Given the description of an element on the screen output the (x, y) to click on. 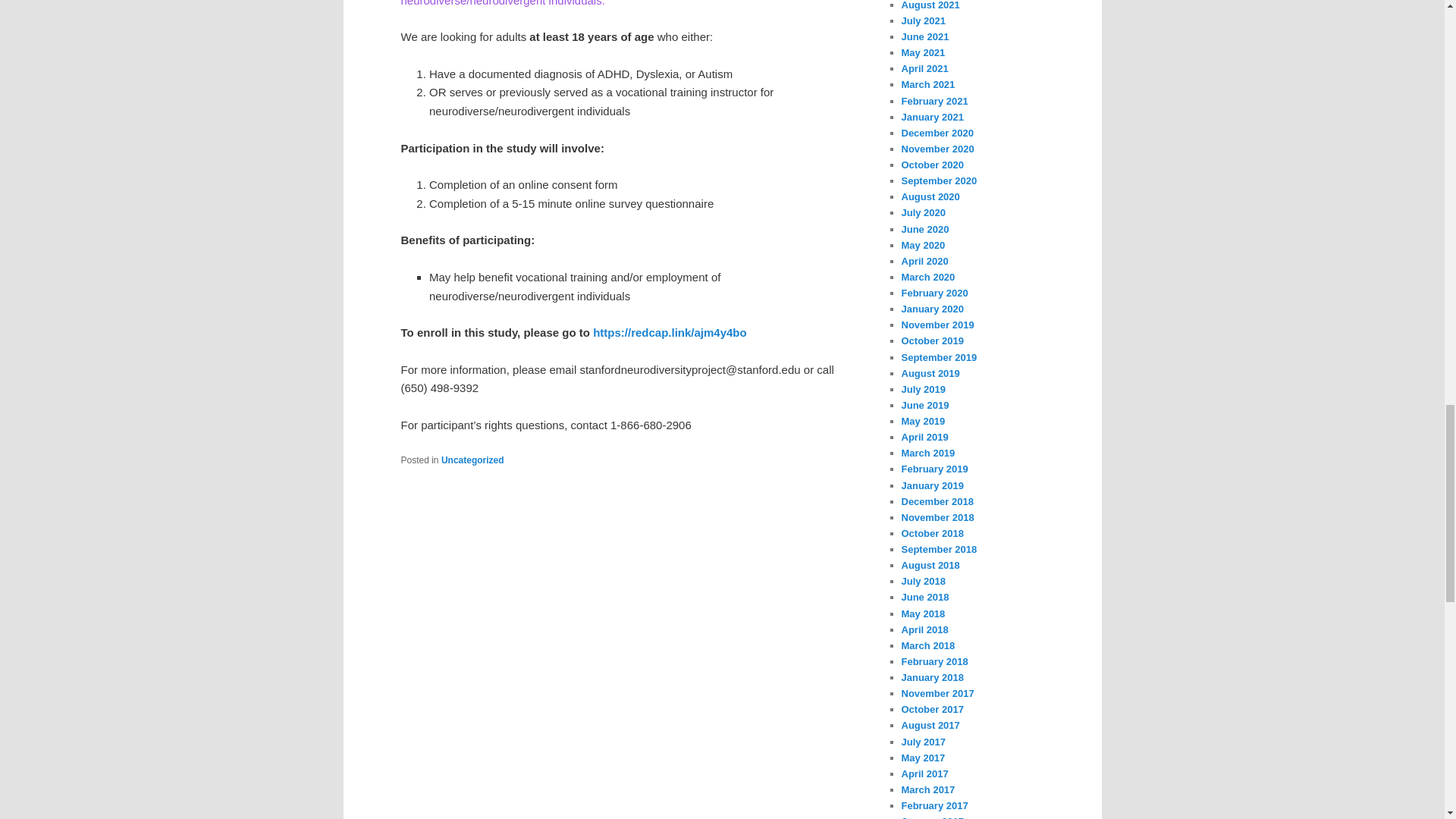
Uncategorized (472, 460)
